Given the description of an element on the screen output the (x, y) to click on. 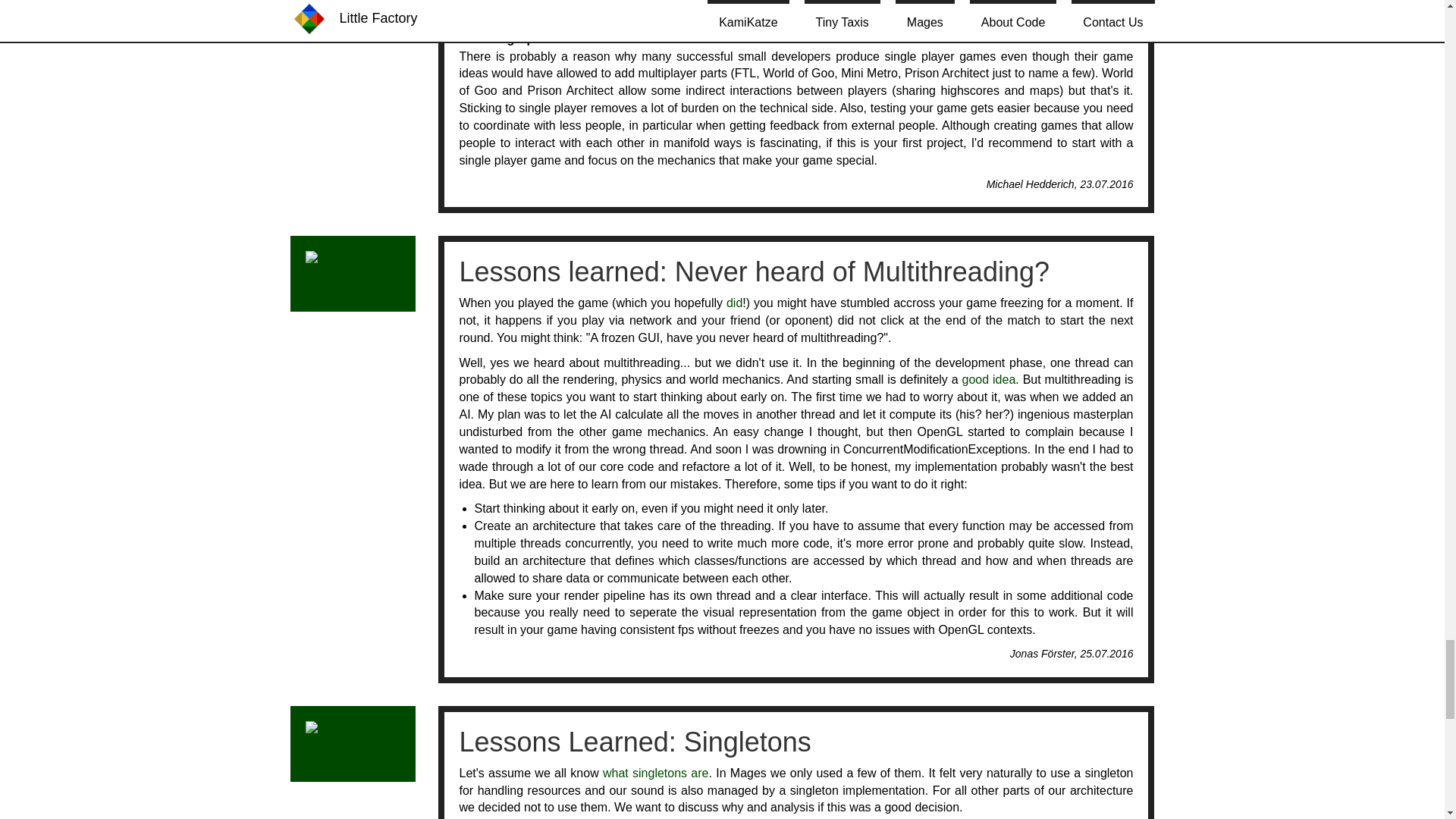
good idea (989, 379)
did (734, 302)
what singletons are (655, 772)
